Given the description of an element on the screen output the (x, y) to click on. 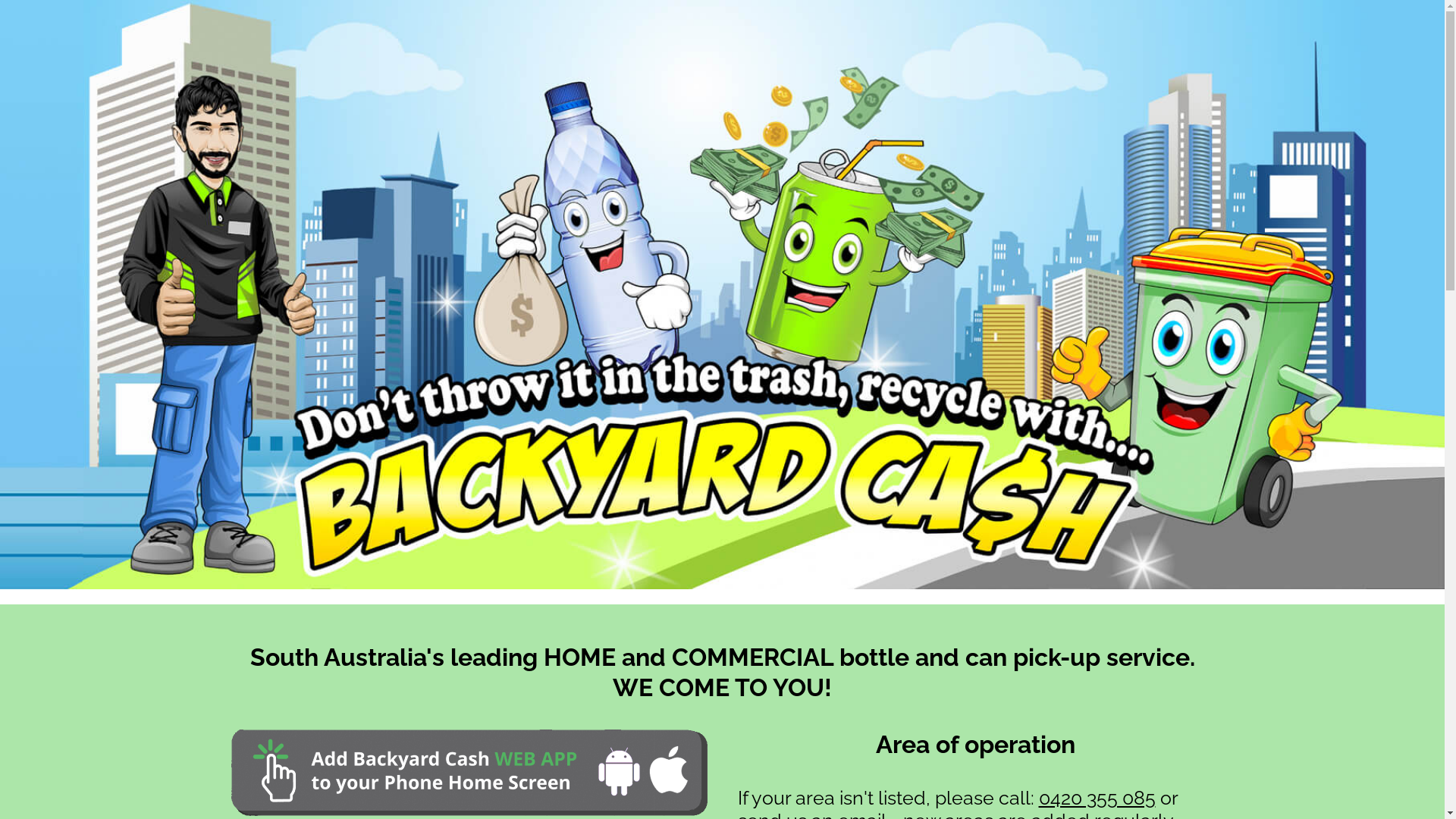
0420 355 085 Element type: text (1096, 797)
